Given the description of an element on the screen output the (x, y) to click on. 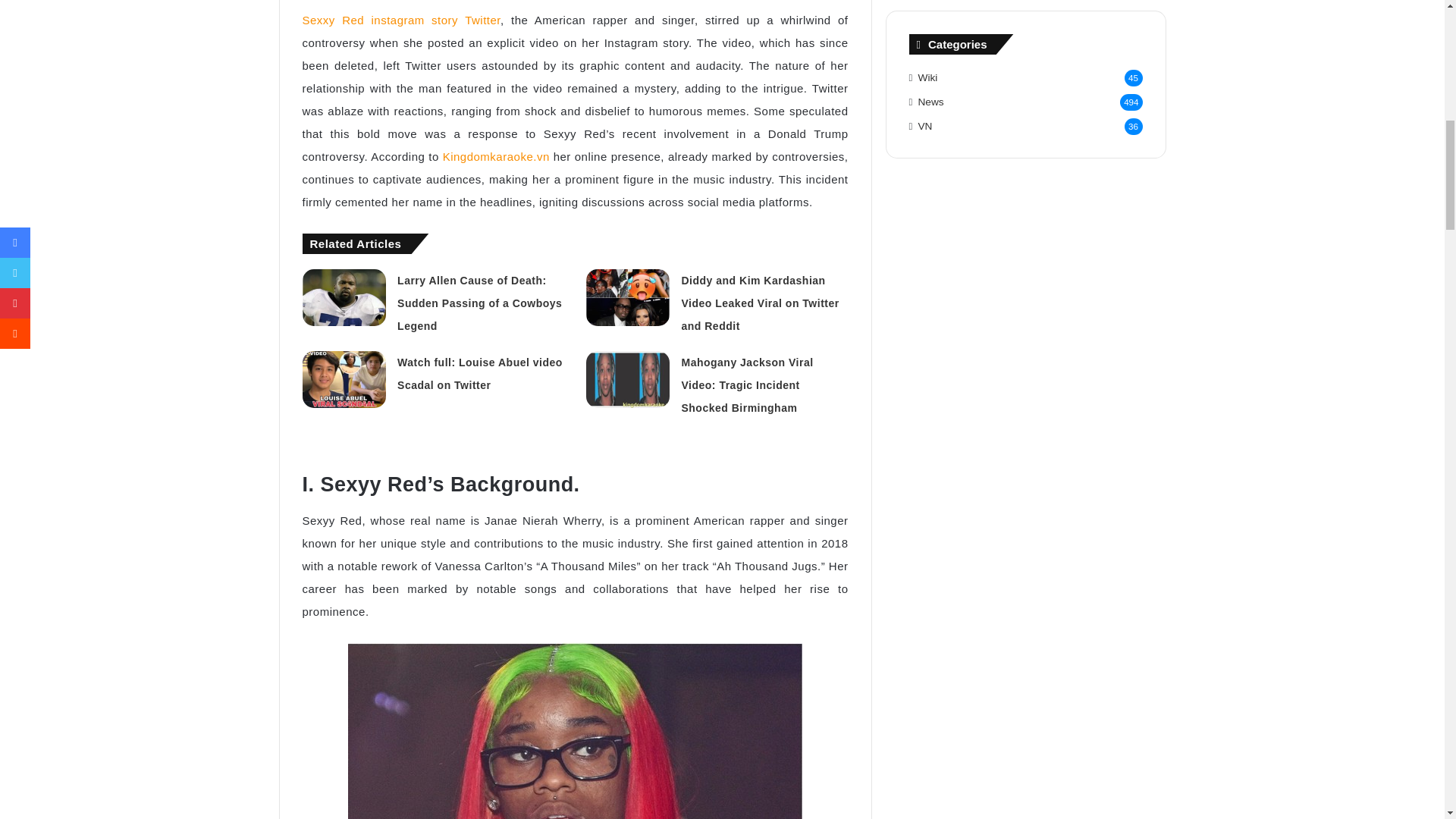
Watch full: Louise Abuel video Scadal on Twitter (479, 373)
Sexxy Red instagram story Twitter (400, 19)
Kingdomkaraoke.vn (496, 155)
